Given the description of an element on the screen output the (x, y) to click on. 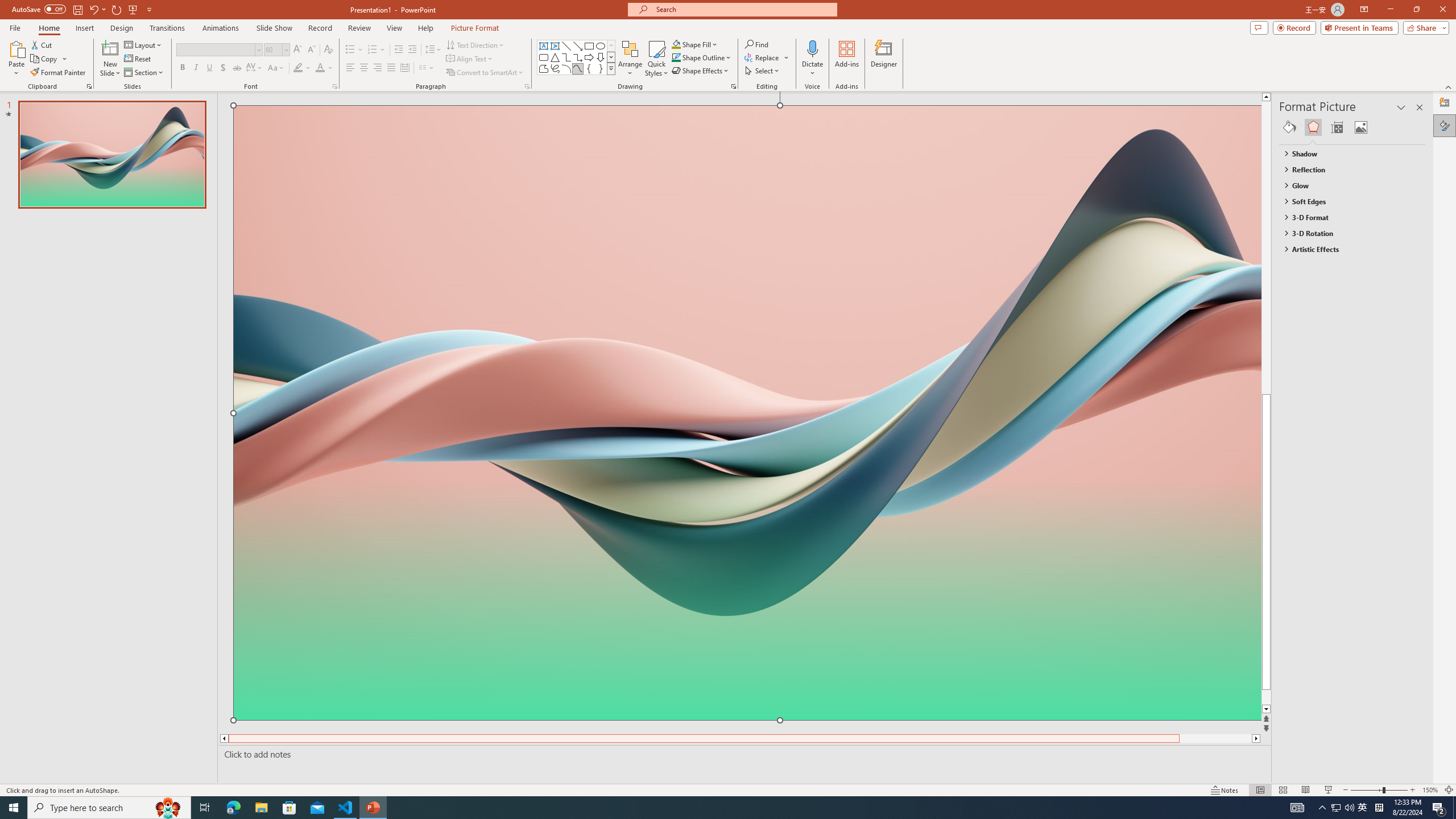
Zoom 150% (1430, 790)
Size & Properties (1336, 126)
